Given the description of an element on the screen output the (x, y) to click on. 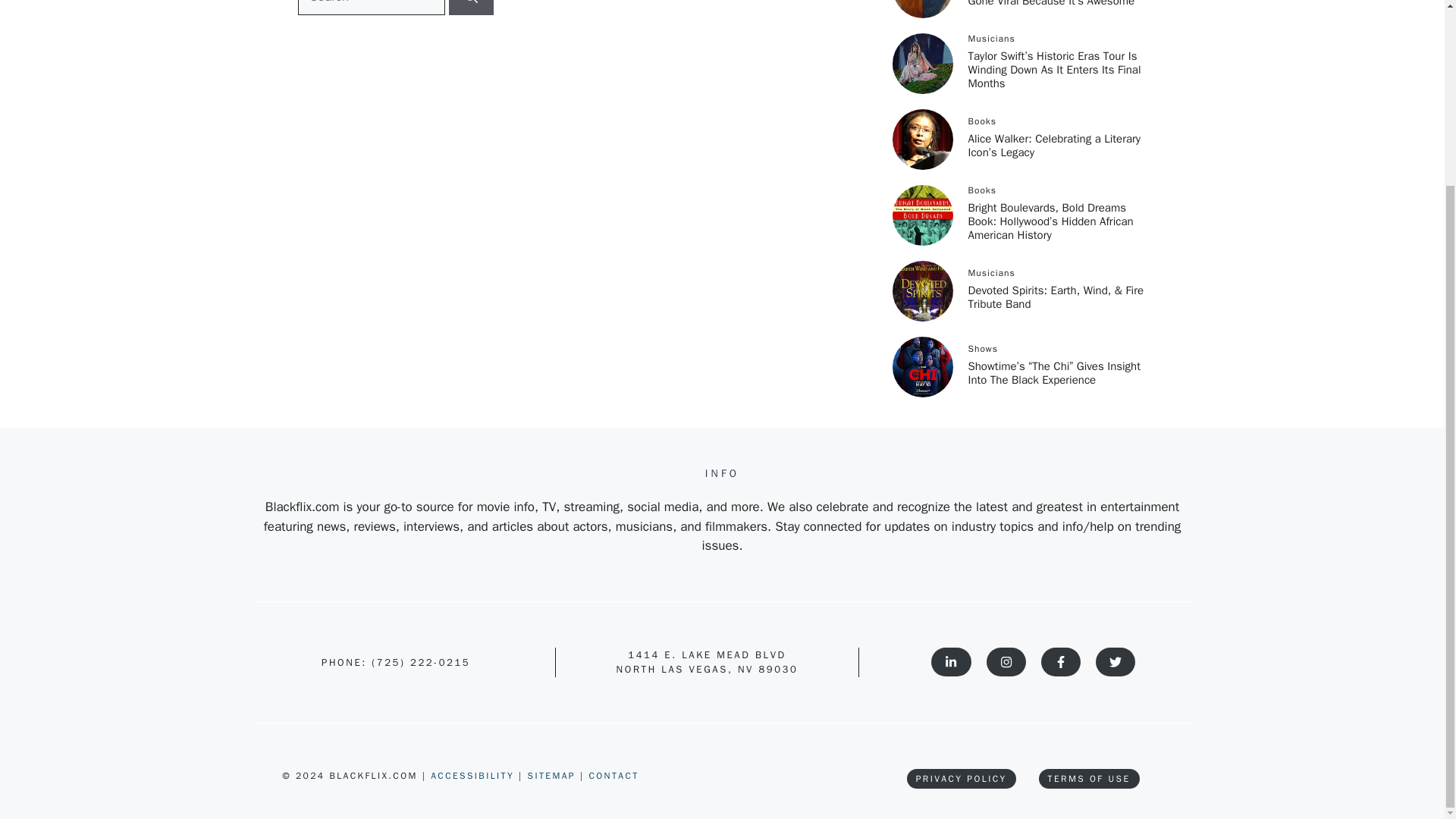
ACCESSIBILITY  (474, 775)
Search for: (370, 7)
TERMS OF USE (1089, 778)
PRIVACY POLICY (961, 778)
CONTACT (613, 775)
SITEMAP  (553, 775)
